Given the description of an element on the screen output the (x, y) to click on. 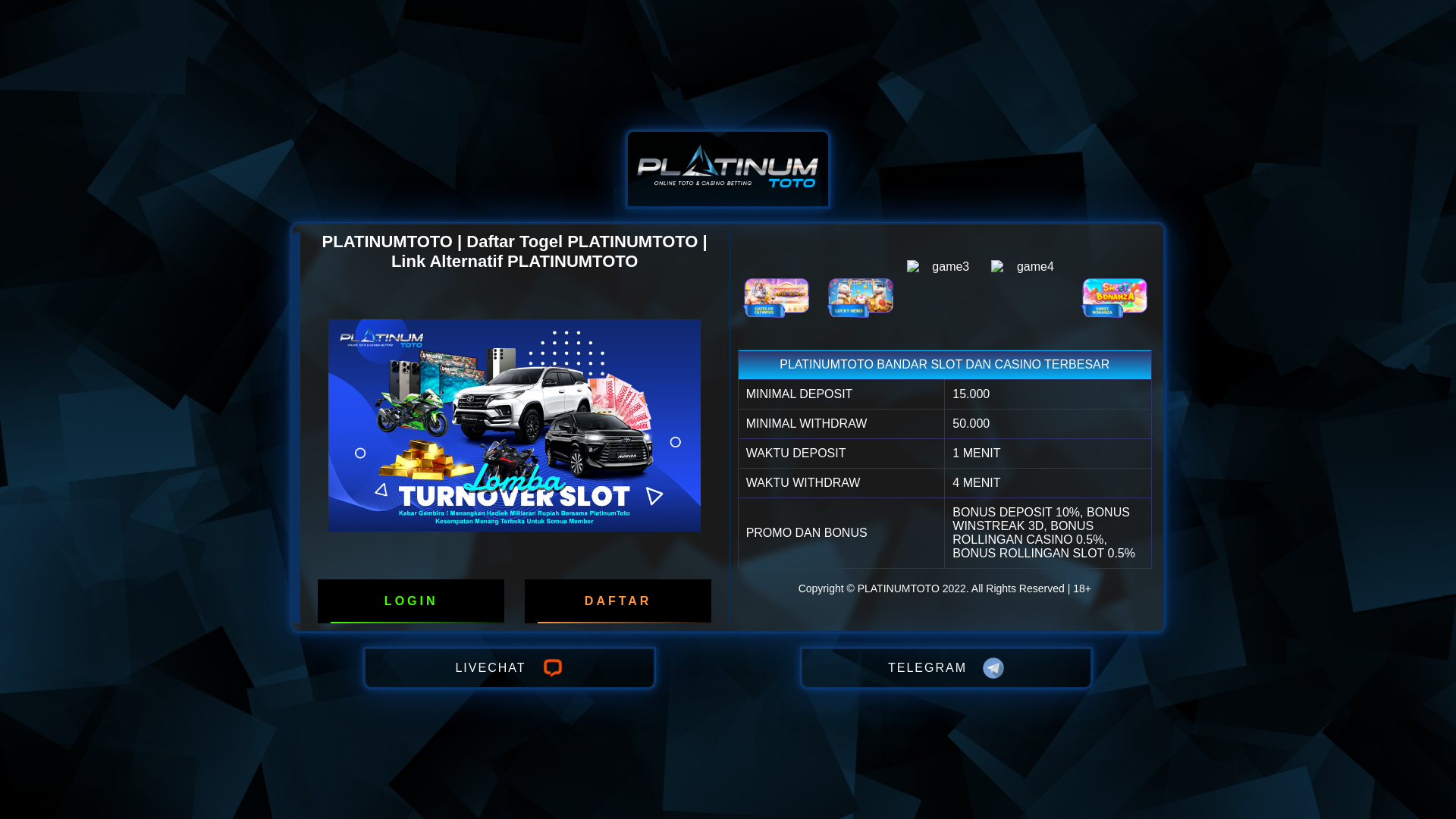
TELEGRAM Element type: text (946, 667)
LOGIN Element type: text (410, 601)
DAFTAR Element type: text (617, 601)
LIVECHAT Element type: text (509, 667)
